Given the description of an element on the screen output the (x, y) to click on. 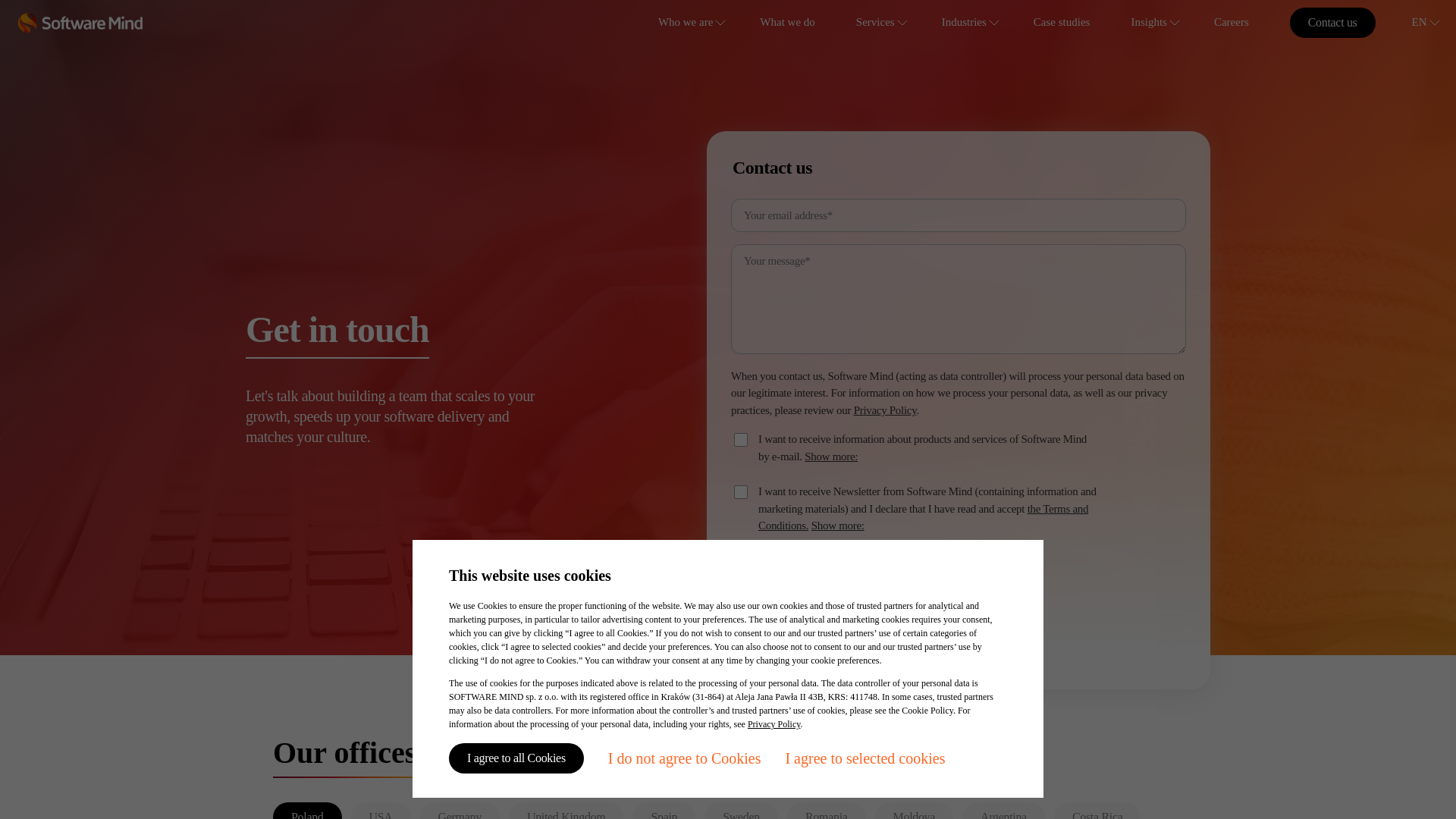
Contact us (1332, 22)
Careers (1231, 22)
What we do (786, 22)
SEND (764, 580)
true (740, 491)
true (740, 439)
Case studies (1061, 22)
reCAPTCHA (827, 642)
